Given the description of an element on the screen output the (x, y) to click on. 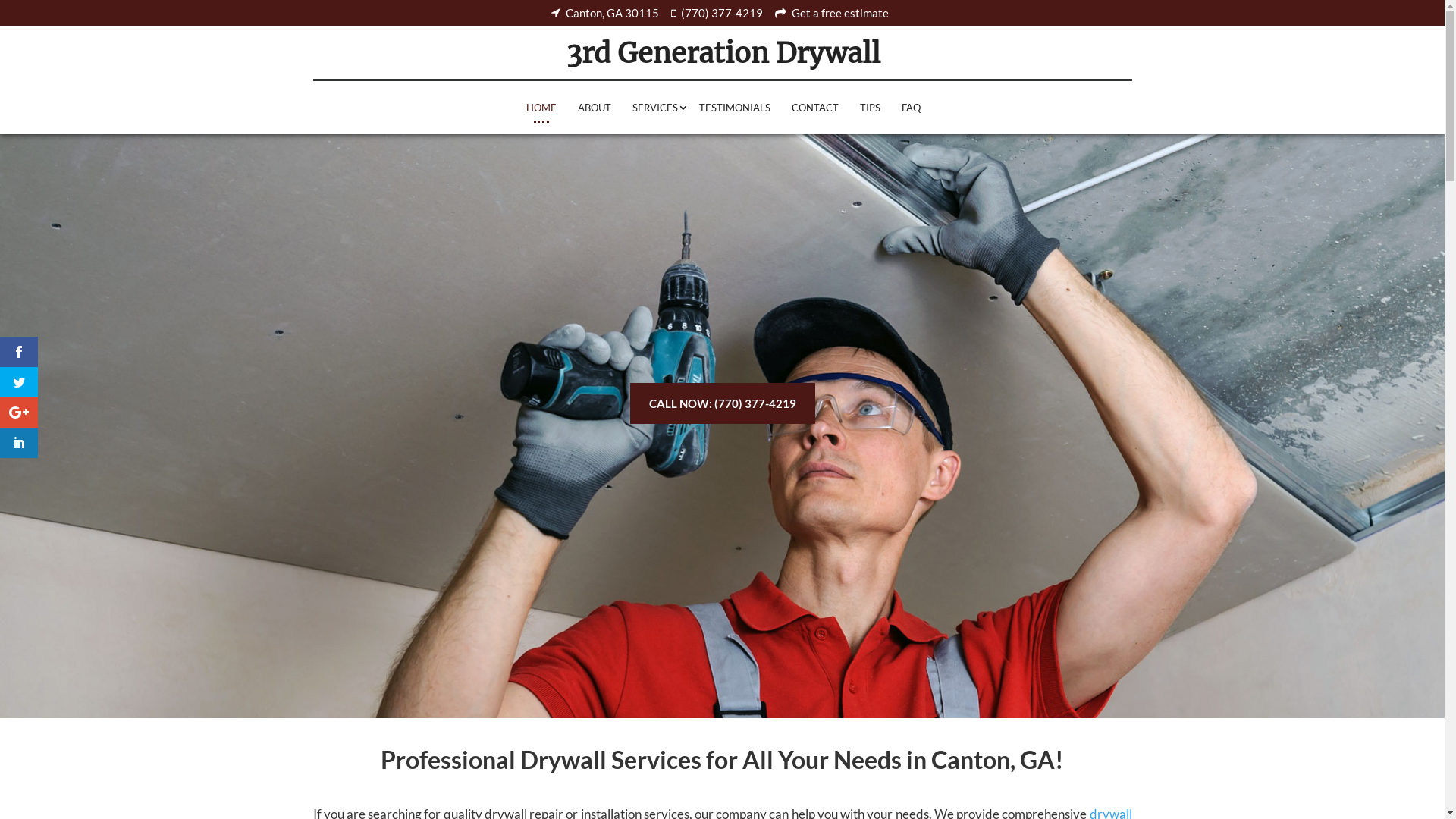
CALL NOW: (770) 377-4219 Element type: text (721, 402)
FAQ Element type: text (911, 107)
ABOUT Element type: text (594, 107)
SERVICES Element type: text (654, 107)
Get a free estimate Element type: text (833, 12)
HOME Element type: text (541, 107)
TESTIMONIALS Element type: text (734, 107)
(770) 377-4219 Element type: text (719, 12)
CONTACT Element type: text (815, 107)
TIPS Element type: text (870, 107)
3rd Generation Drywall Element type: text (723, 53)
